Given the description of an element on the screen output the (x, y) to click on. 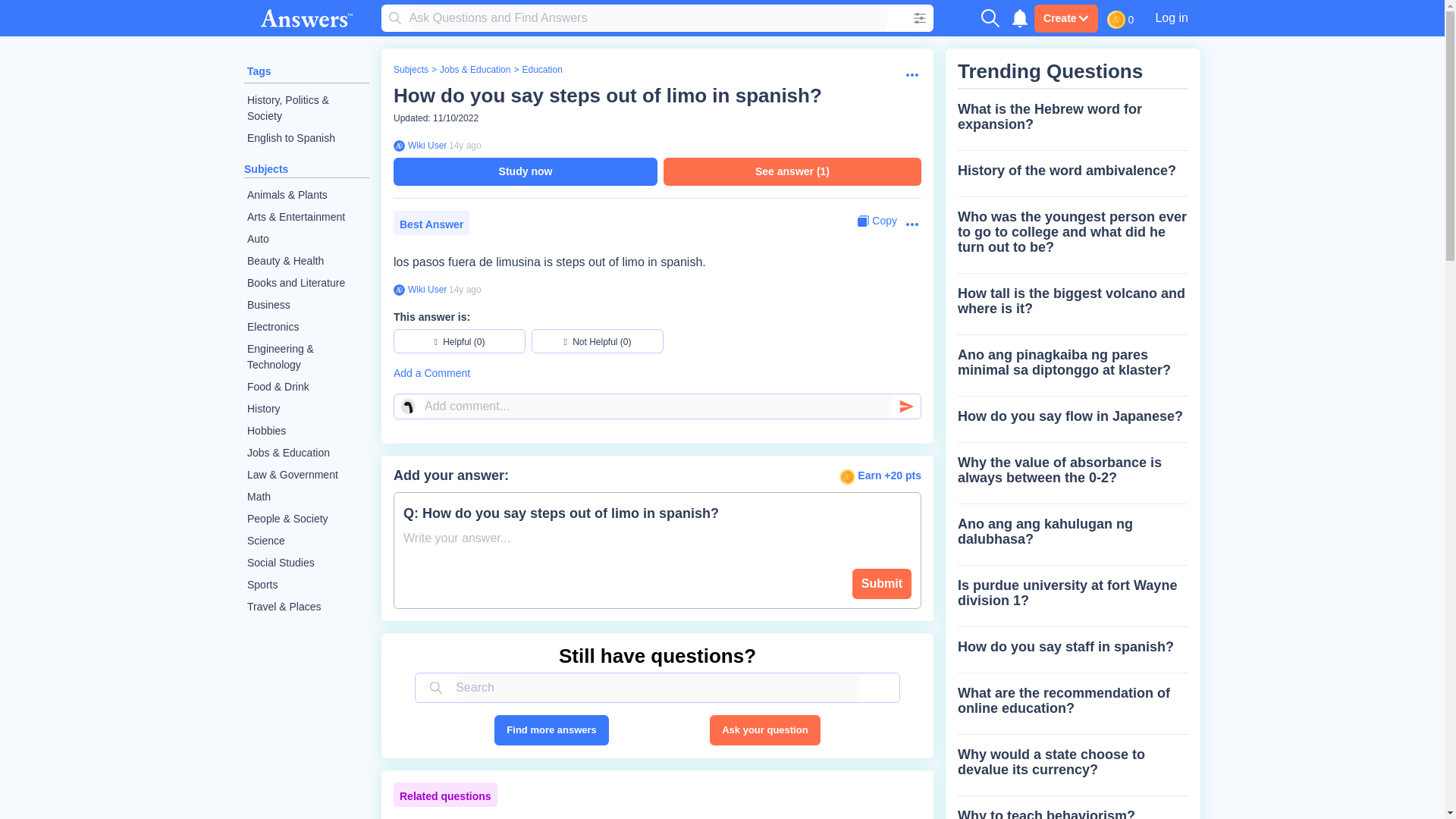
Create (1065, 18)
Sports (306, 585)
Hobbies (306, 431)
Electronics (306, 327)
2010-02-05 22:33:00 (464, 289)
Math (306, 496)
Business (306, 305)
2010-02-05 22:33:00 (464, 145)
How do you say steps out of limo in spanish? (607, 95)
Books and Literature (306, 282)
English to Spanish (306, 138)
Log in (1170, 17)
Copy (876, 220)
Tags (258, 70)
Auto (306, 239)
